Given the description of an element on the screen output the (x, y) to click on. 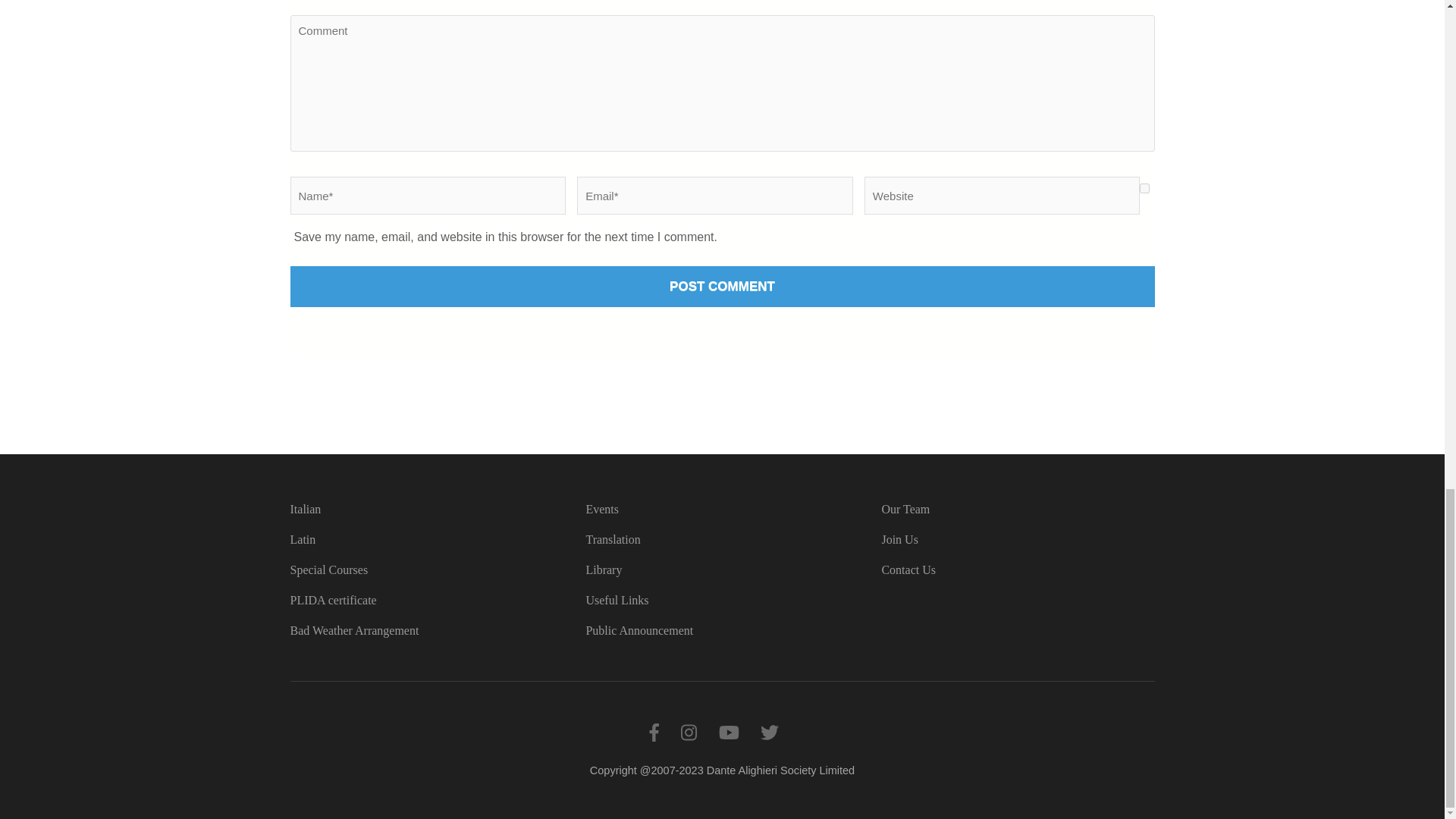
Post Comment (721, 286)
youtube (729, 732)
yes (1145, 188)
twitter (769, 732)
